Given the description of an element on the screen output the (x, y) to click on. 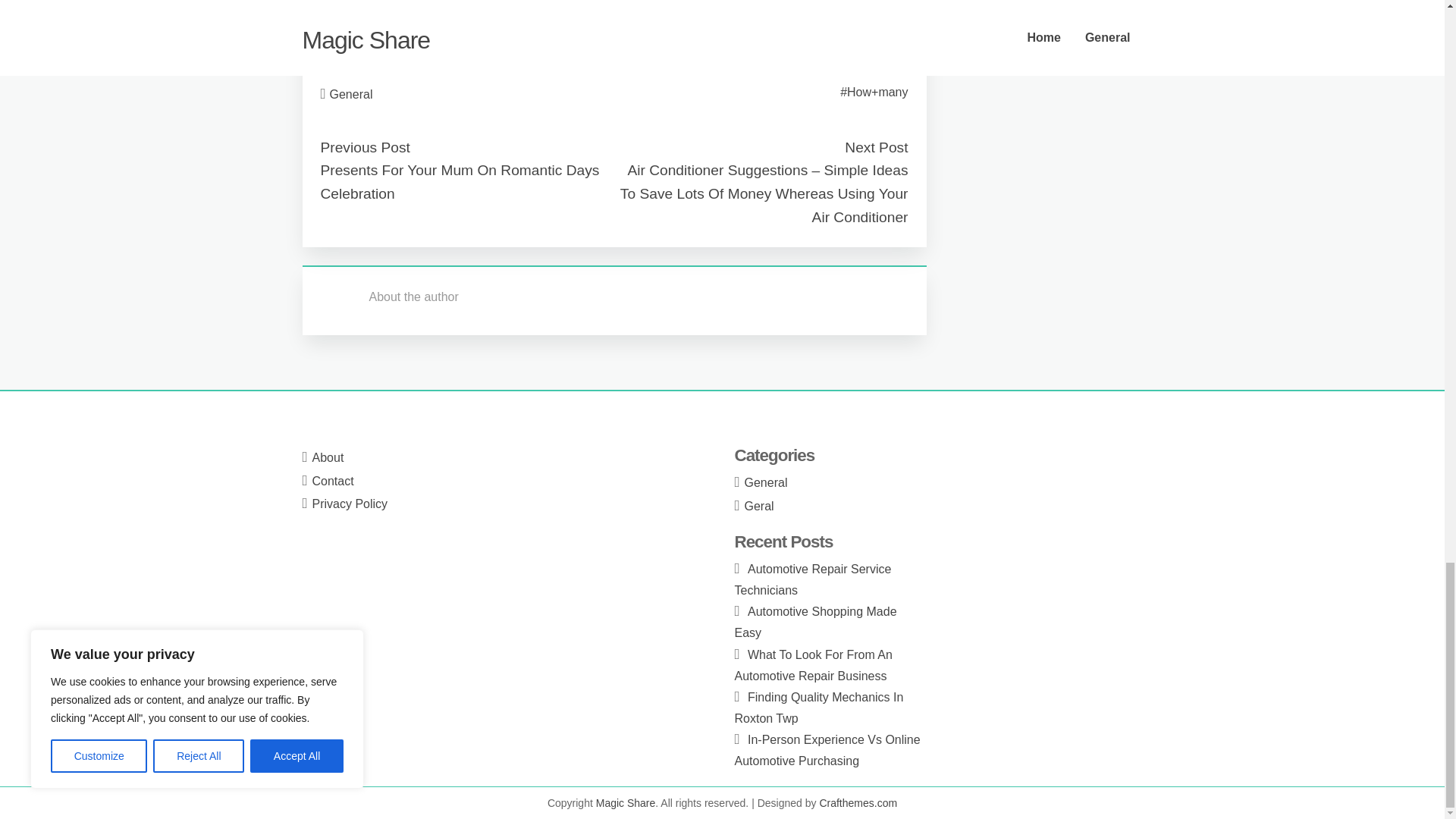
General (351, 93)
Please click the next page (390, 4)
Previous Post (364, 147)
Next Post (875, 147)
This Web page (360, 41)
Presents For Your Mum On Romantic Days Celebration (459, 181)
